Given the description of an element on the screen output the (x, y) to click on. 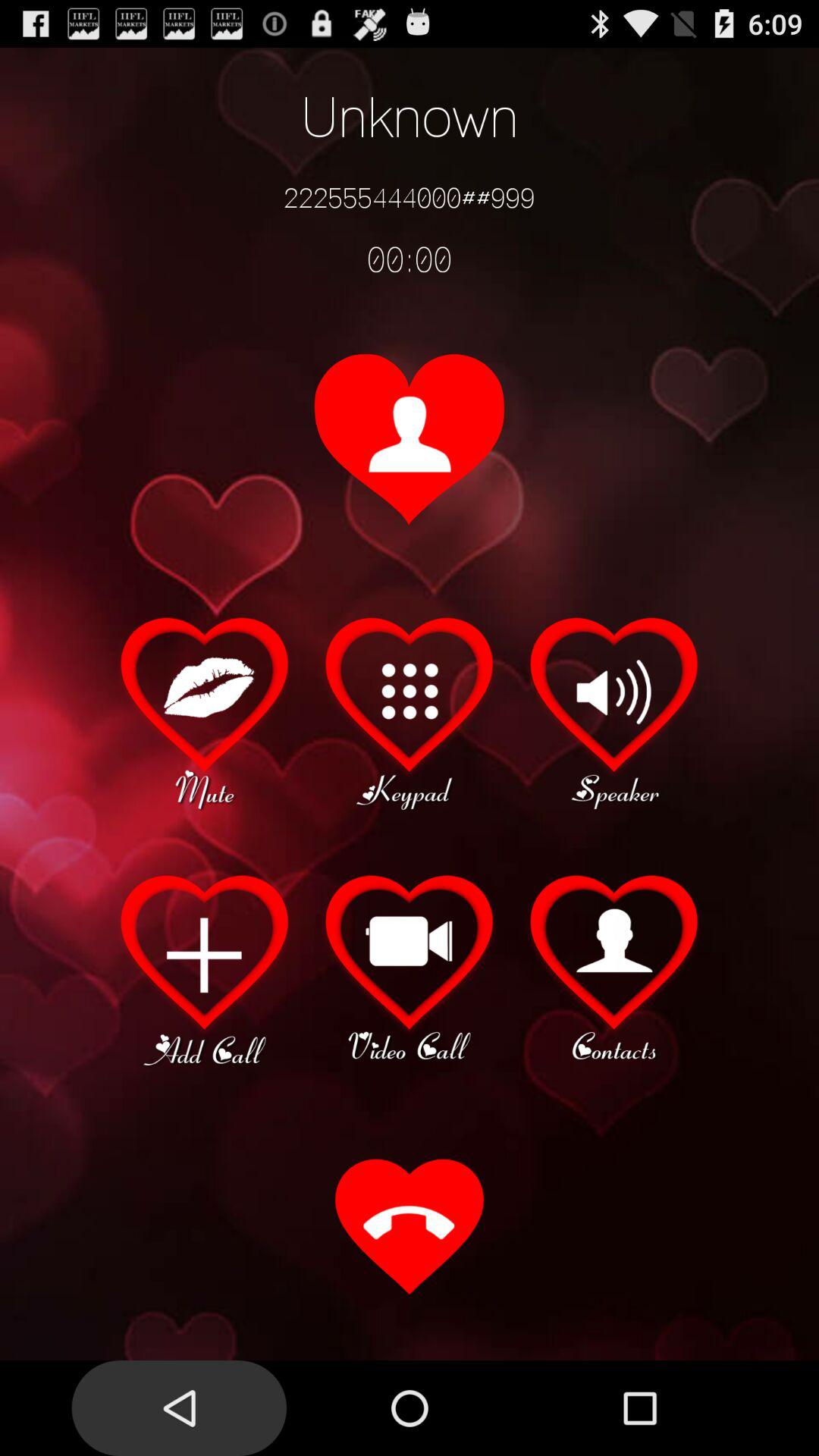
mute option during call (204, 711)
